Given the description of an element on the screen output the (x, y) to click on. 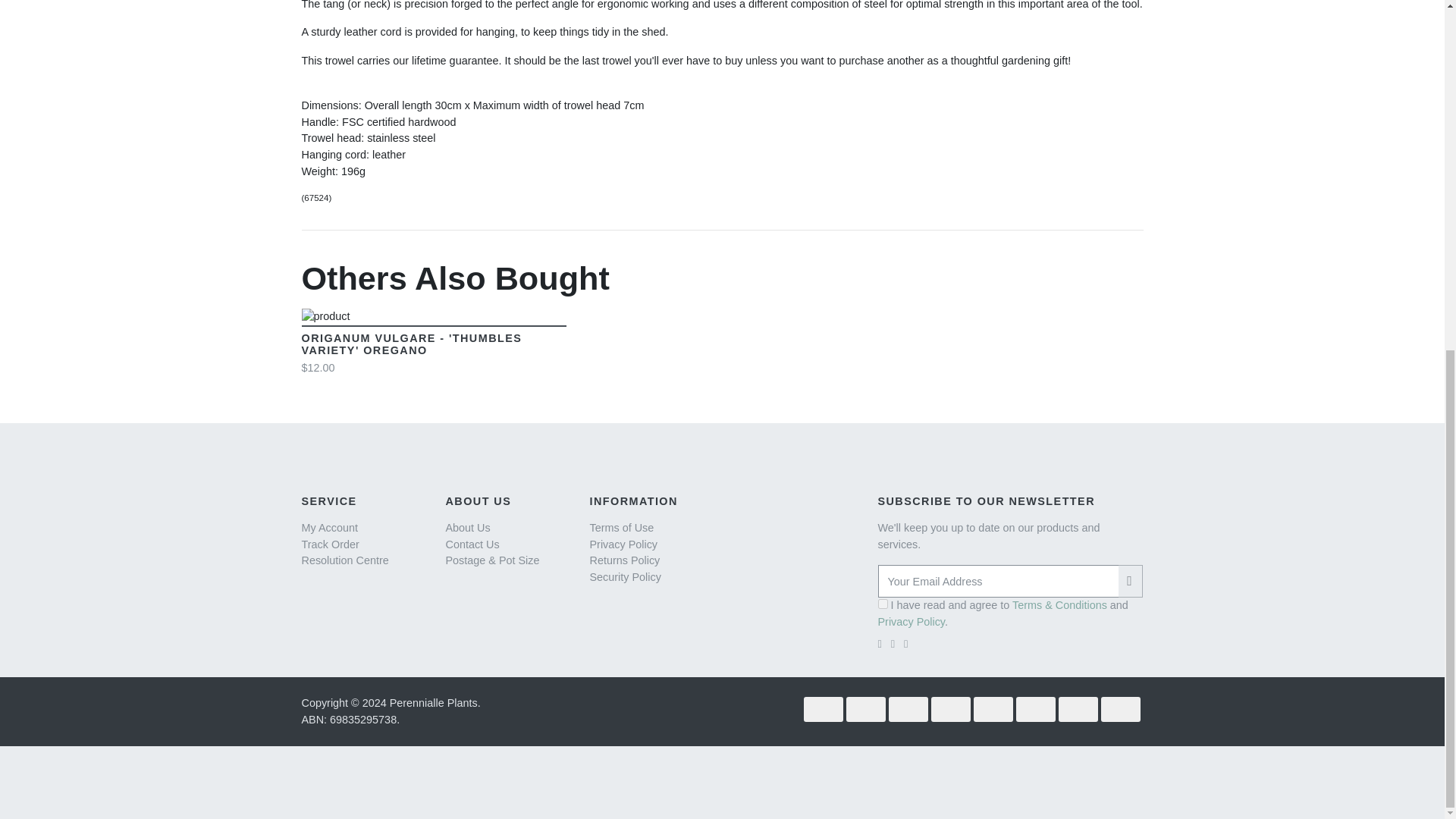
Email us (879, 644)
Perennialle Plants on Facebook (893, 644)
y (882, 603)
Perennialle Plants on Instagram (905, 644)
